Given the description of an element on the screen output the (x, y) to click on. 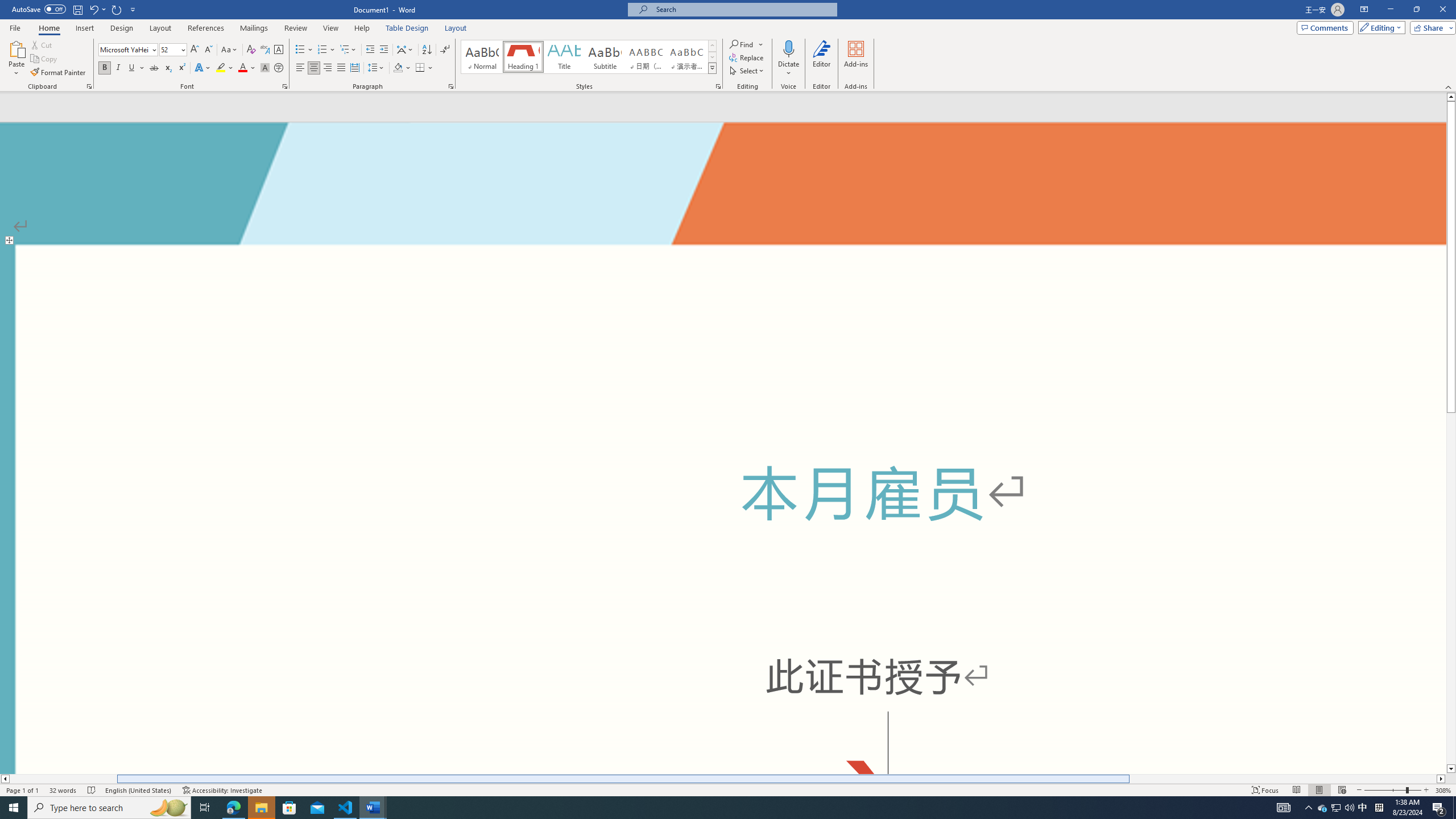
Character Shading (264, 67)
Office Clipboard... (88, 85)
Accessibility Checker Accessibility: Investigate (222, 790)
